Given the description of an element on the screen output the (x, y) to click on. 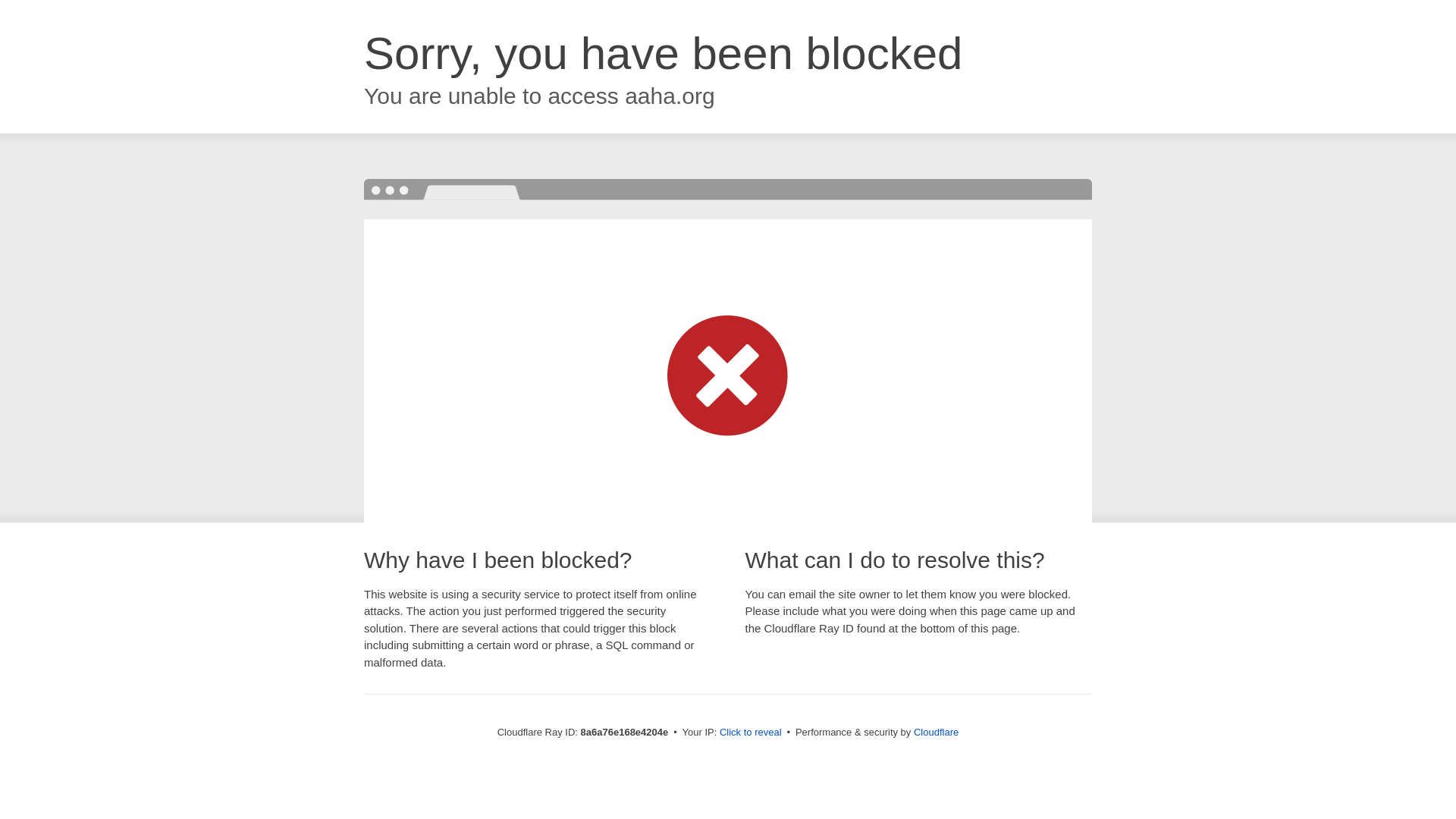
Click to reveal (750, 732)
Cloudflare (936, 731)
